Given the description of an element on the screen output the (x, y) to click on. 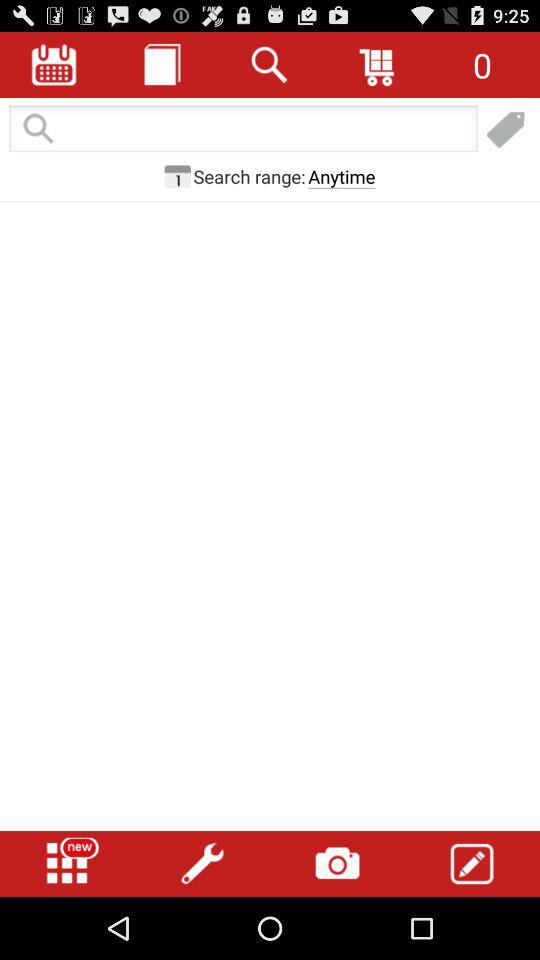
tap icon next to search range: item (341, 175)
